Given the description of an element on the screen output the (x, y) to click on. 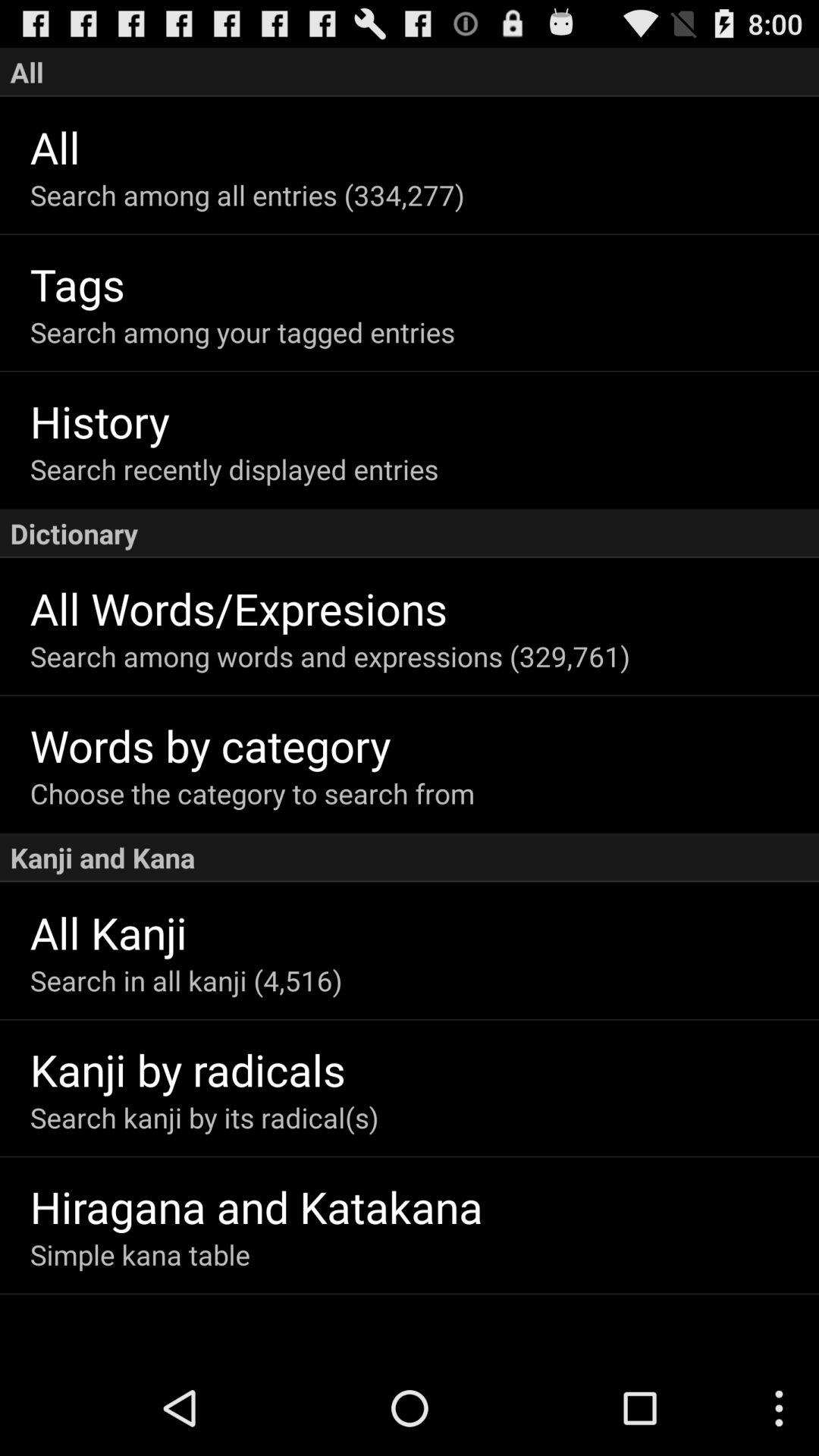
jump to the history item (424, 420)
